Given the description of an element on the screen output the (x, y) to click on. 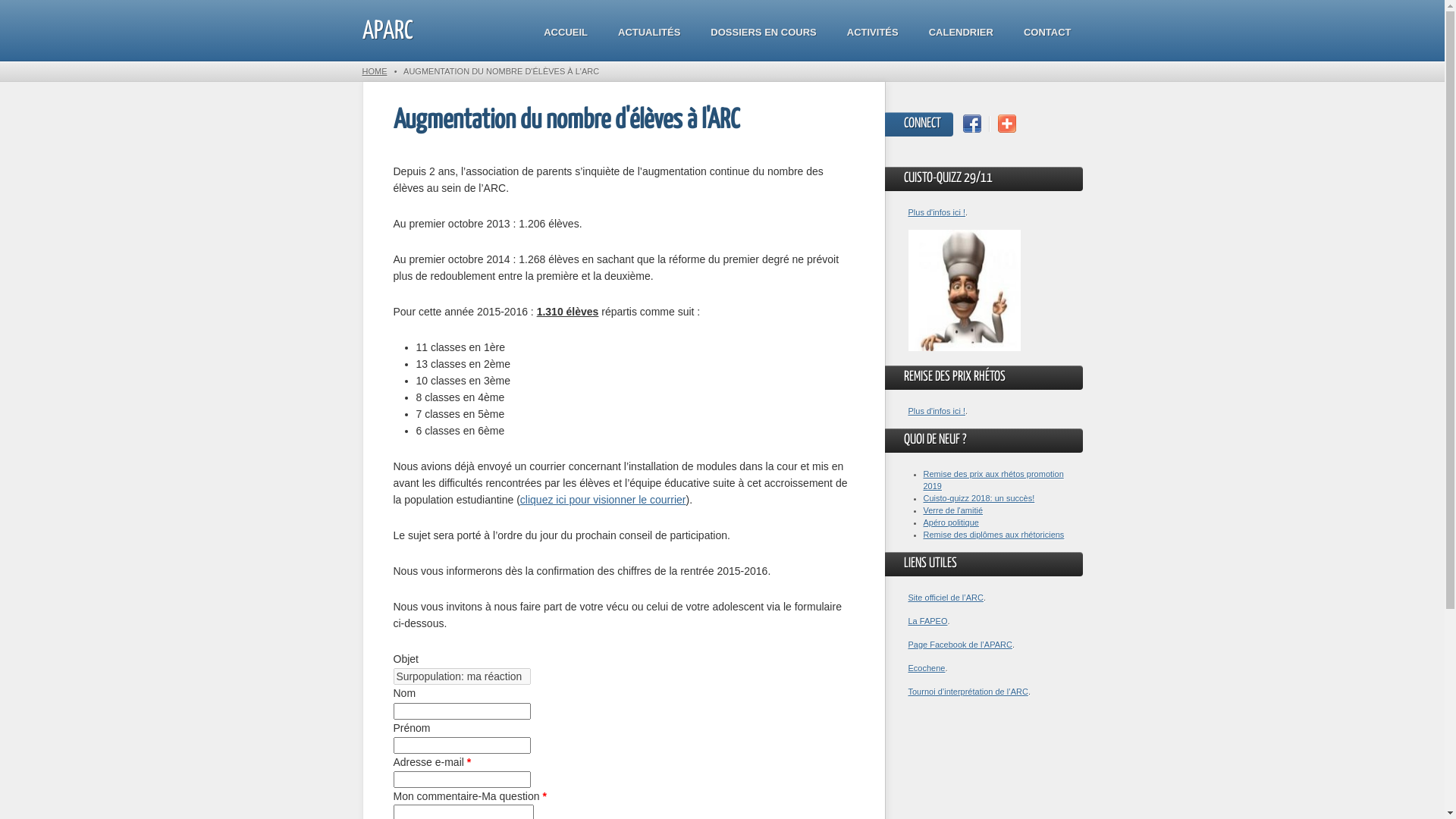
Ecochene Element type: text (926, 667)
La FAPEO Element type: text (927, 620)
Plus d'infos ici ! Element type: text (936, 211)
HOME Element type: text (374, 70)
APARC Element type: text (387, 31)
CALENDRIER Element type: text (960, 32)
CONTACT Element type: text (1047, 32)
ACCUEIL Element type: text (565, 32)
Plus d'infos ici ! Element type: text (936, 410)
cliquez ici pour visionner le courrier Element type: text (603, 499)
DOSSIERS EN COURS Element type: text (763, 32)
